Given the description of an element on the screen output the (x, y) to click on. 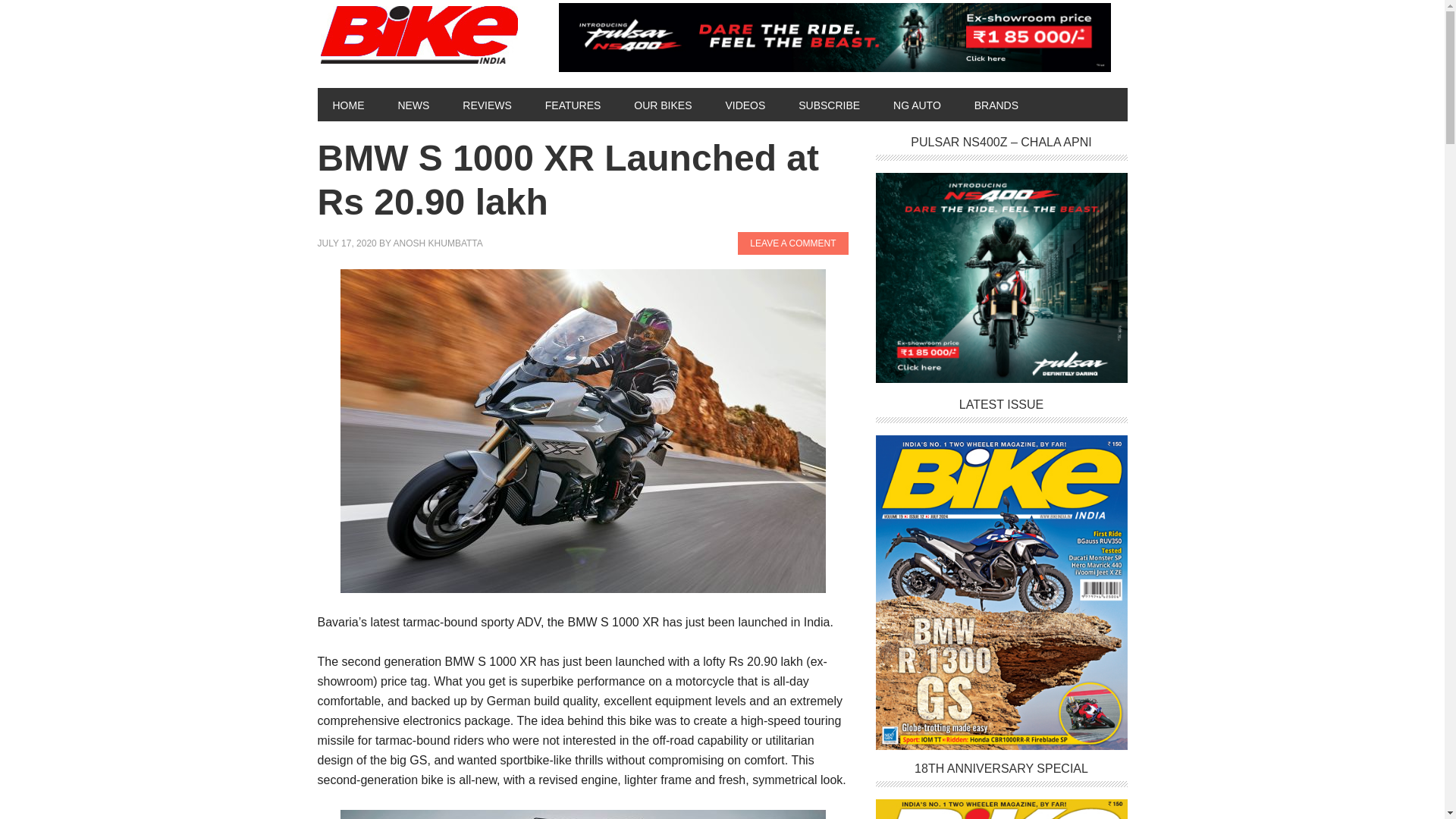
OUR BIKES (662, 104)
NG AUTO (916, 104)
NEWS (412, 104)
LEAVE A COMMENT (792, 242)
BIKE INDIA (422, 35)
REVIEWS (486, 104)
VIDEOS (745, 104)
SUBSCRIBE (829, 104)
BRANDS (996, 104)
ANOSH KHUMBATTA (438, 243)
